Given the description of an element on the screen output the (x, y) to click on. 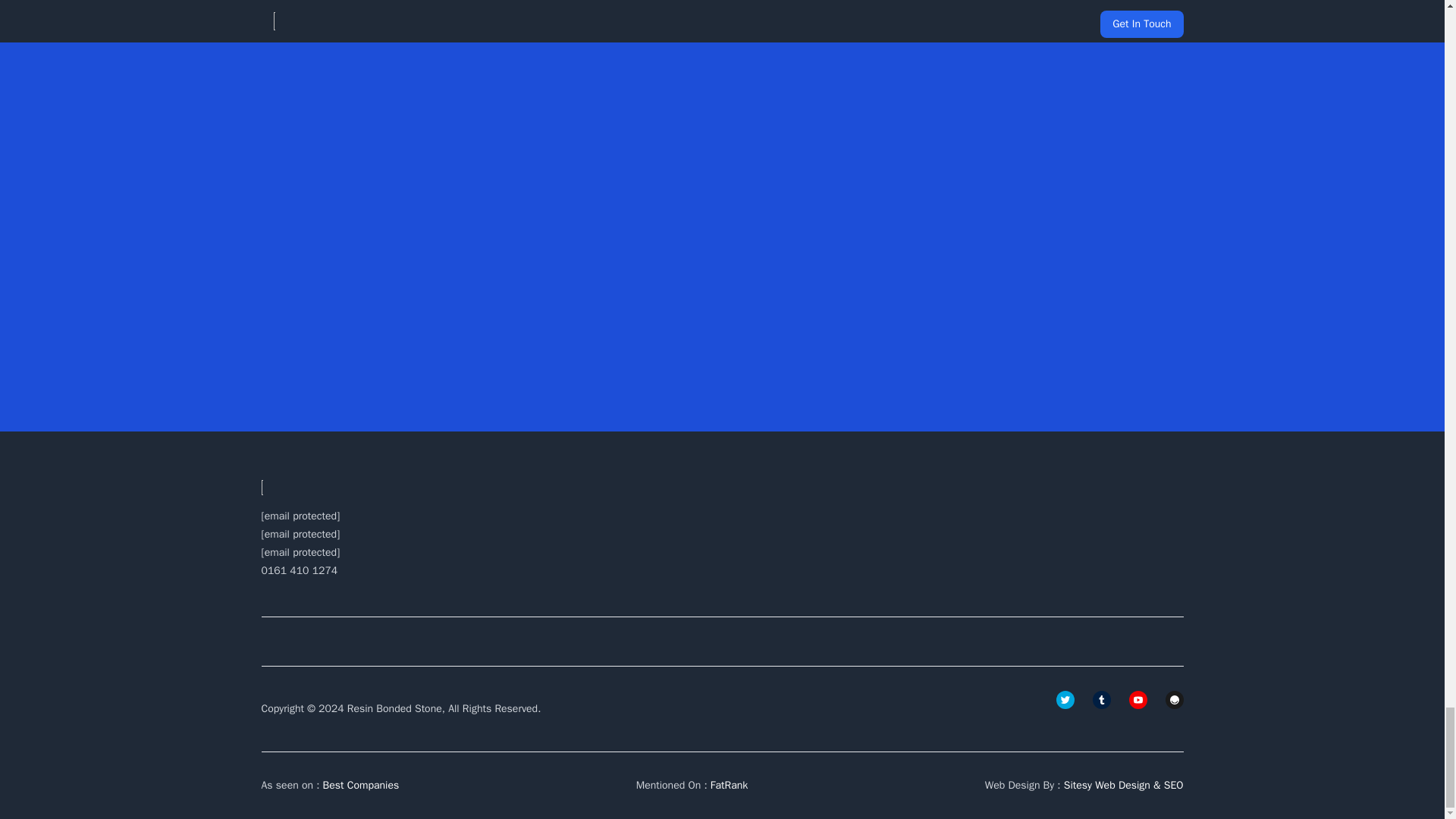
YouTube (1137, 700)
FatRank (729, 784)
Twitter (1064, 700)
0161 410 1274 (298, 570)
Pinterest (1173, 700)
Twitter (1100, 700)
Best Companies (360, 784)
